Given the description of an element on the screen output the (x, y) to click on. 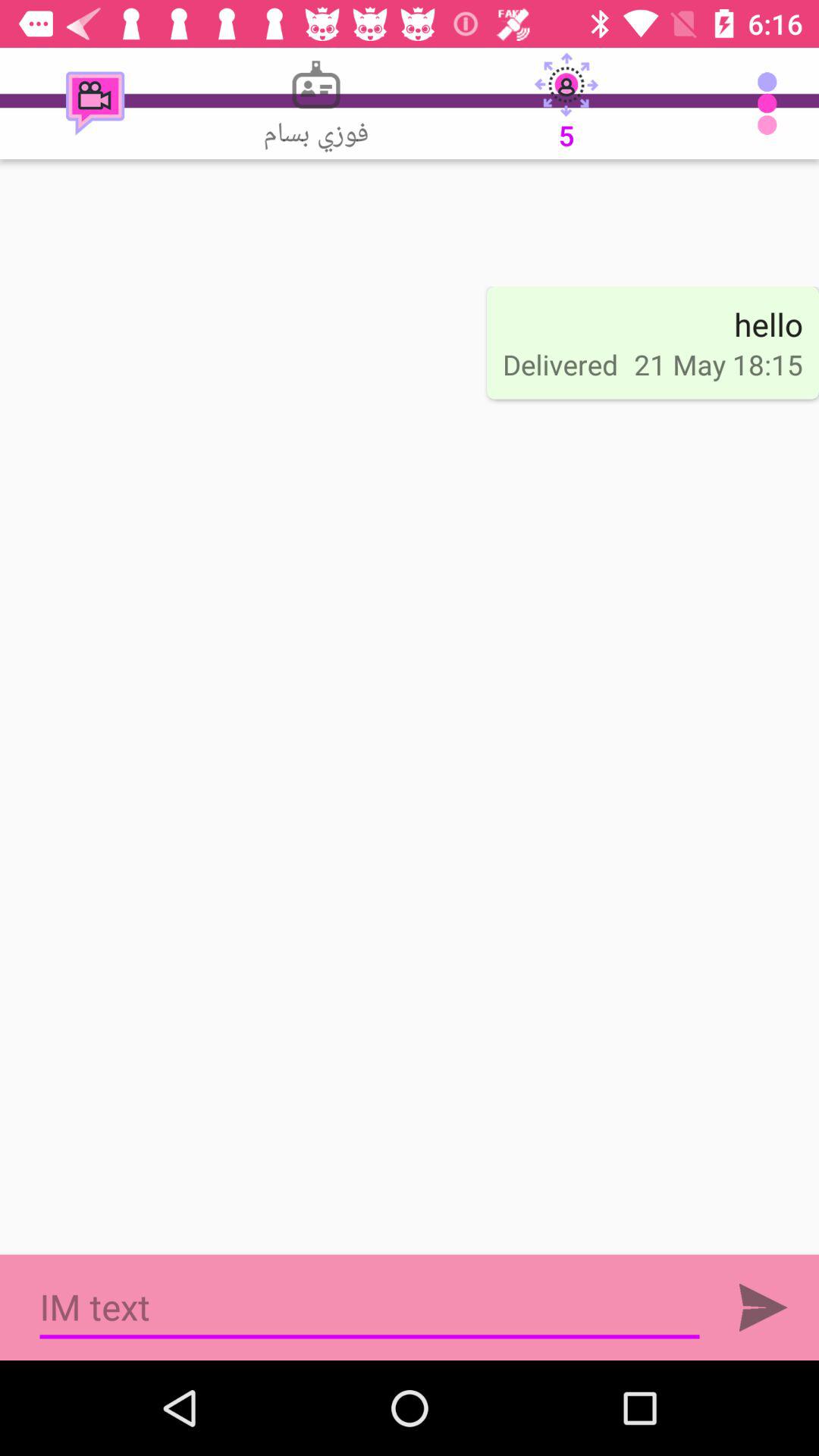
swipe to hello icon (768, 323)
